Given the description of an element on the screen output the (x, y) to click on. 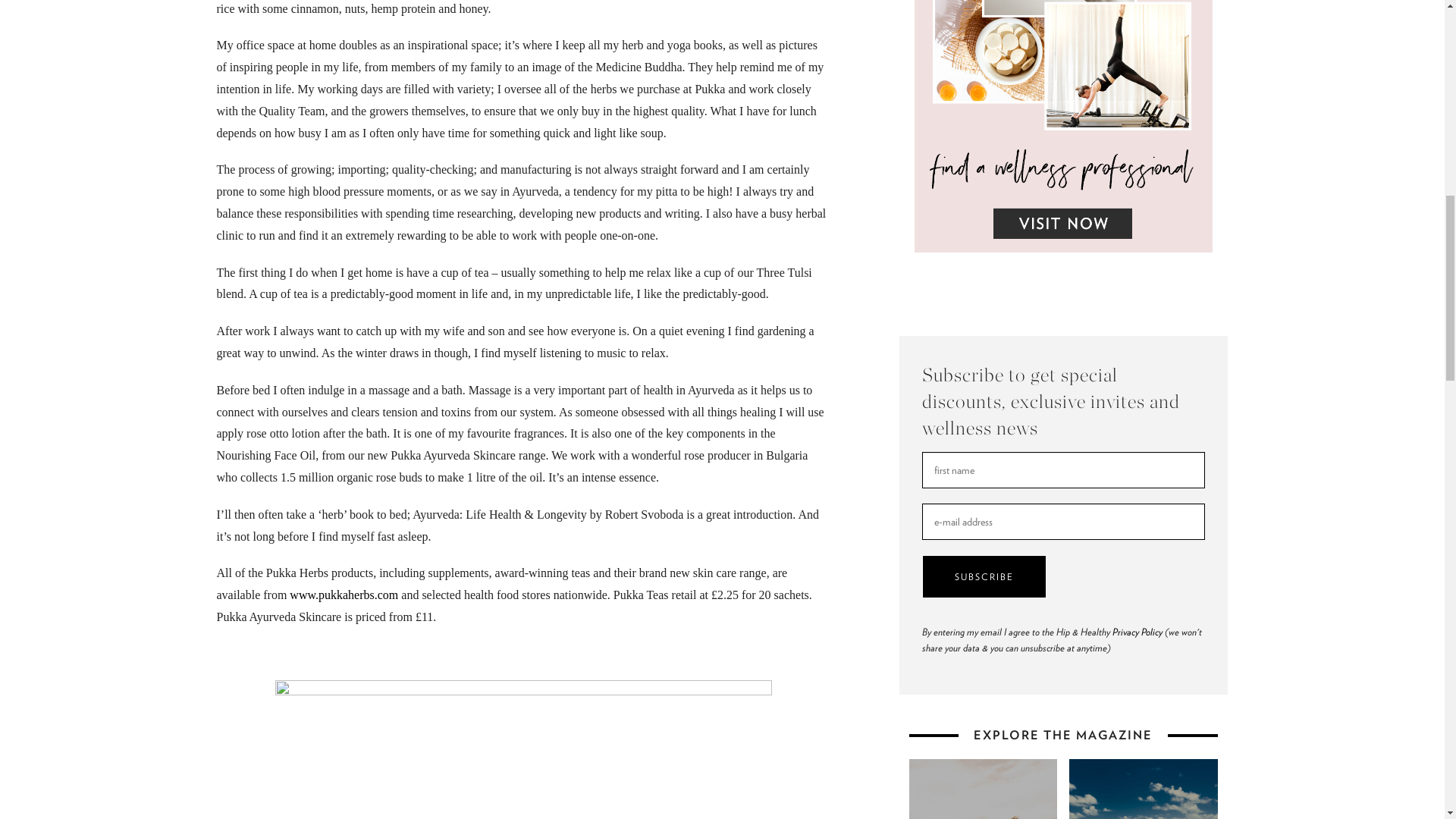
Subscribe (983, 576)
We Love Pukka (523, 749)
